Given the description of an element on the screen output the (x, y) to click on. 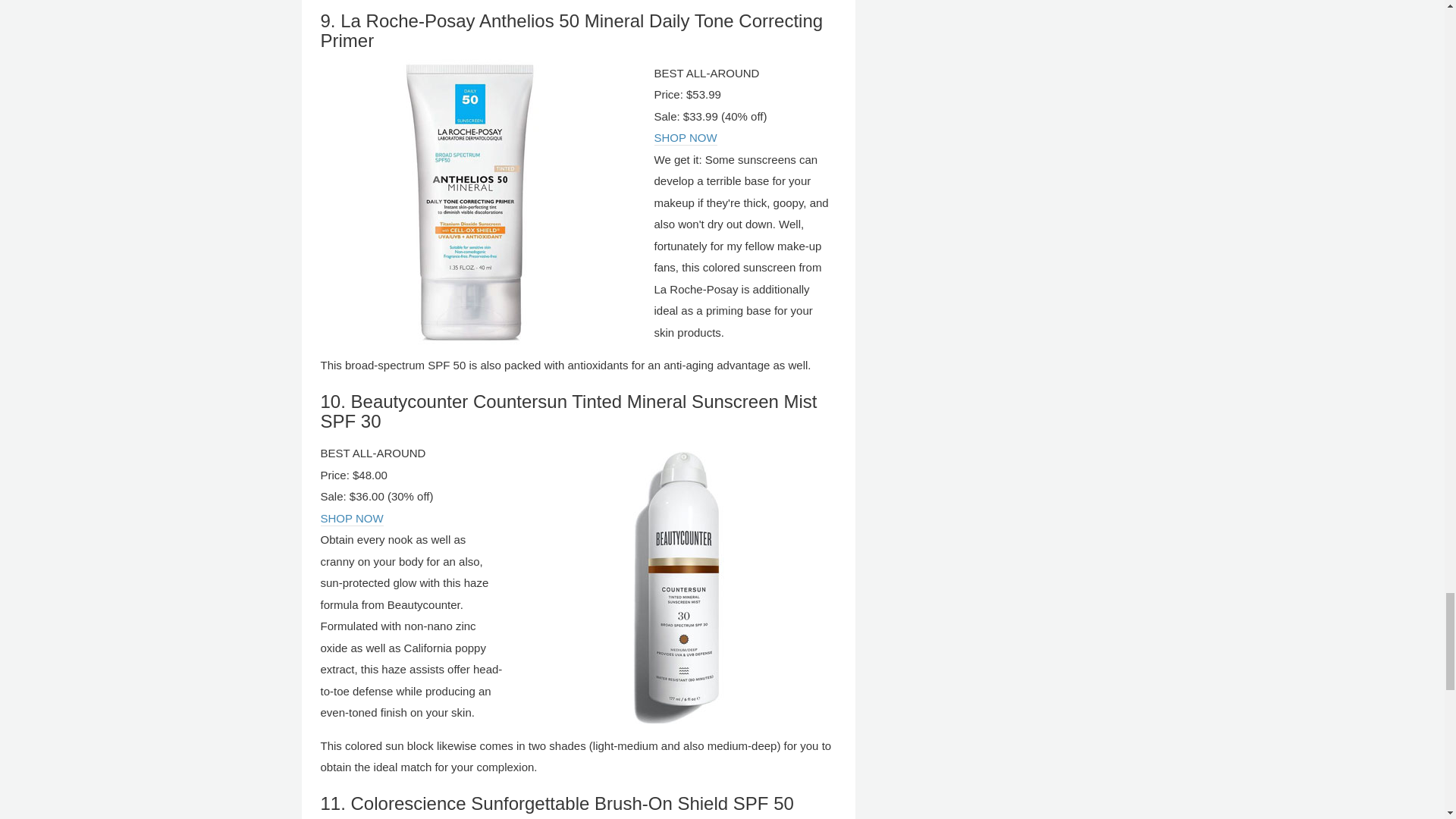
SHOP NOW (684, 138)
SHOP NOW (684, 138)
SHOP NOW (351, 518)
SHOP NOW (351, 518)
